Given the description of an element on the screen output the (x, y) to click on. 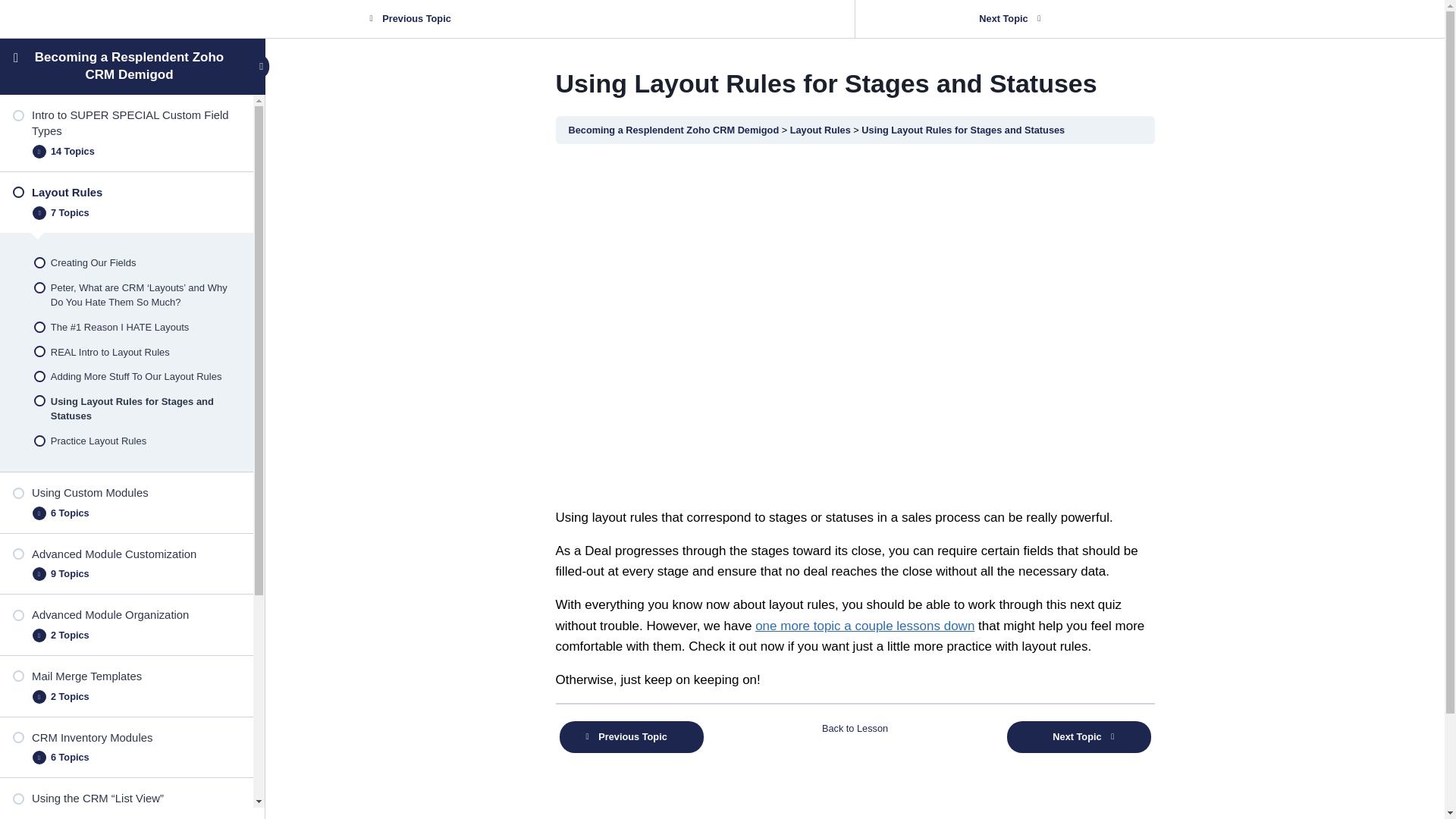
Intro to SUPER SPECIAL Custom Field Types (126, 123)
Advanced Module Customization (126, 554)
Creating Our Fields (125, 263)
Becoming a Resplendent Zoho CRM Demigod (129, 65)
Using Custom Modules (126, 493)
Practice Layout Rules (125, 440)
Adding More Stuff To Our Layout Rules (125, 376)
Using Layout Rules for Stages and Statuses (125, 408)
REAL Intro to Layout Rules (125, 351)
Layout Rules (126, 192)
